Given the description of an element on the screen output the (x, y) to click on. 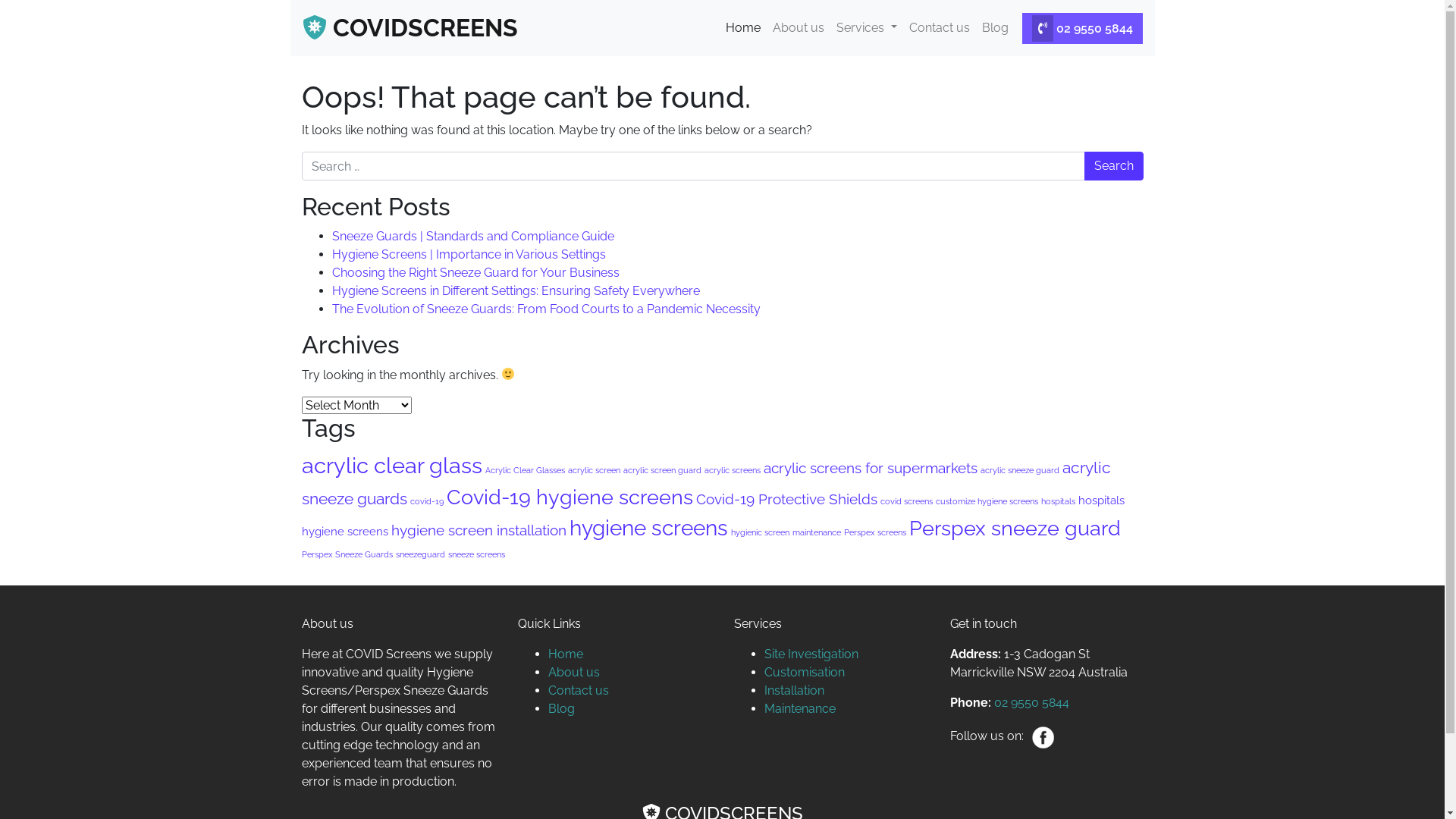
Perspex screens Element type: text (874, 531)
Sneeze Guards | Standards and Compliance Guide Element type: text (473, 236)
Perspex Sneeze Guards Element type: text (346, 553)
Customisation Element type: text (804, 672)
Hygiene Screens | Importance in Various Settings Element type: text (468, 254)
acrylic sneeze guard Element type: text (1018, 469)
covid-19 Element type: text (425, 500)
sneeze screens Element type: text (475, 553)
Acrylic Clear Glasses Element type: text (524, 469)
Contact us Element type: text (577, 690)
Search Element type: text (1113, 165)
Choosing the Right Sneeze Guard for Your Business Element type: text (475, 272)
covid screens Element type: text (905, 500)
acrylic sneeze guards Element type: text (705, 483)
acrylic clear glass Element type: text (391, 464)
Home Element type: text (564, 653)
Contact us Element type: text (938, 27)
Covid-19 hygiene screens Element type: text (568, 496)
hospitals Element type: text (1057, 500)
hygiene screens Element type: text (647, 527)
Blog Element type: text (560, 708)
COVIDSCREENS Element type: text (409, 28)
Installation Element type: text (794, 690)
About us Element type: text (798, 27)
02 9550 5844 Element type: text (1082, 27)
sneezeguard Element type: text (420, 553)
02 9550 5844 Element type: text (1029, 702)
About us Element type: text (573, 672)
Home
(current) Element type: text (742, 27)
Covid-19 Protective Shields Element type: text (786, 498)
Perspex sneeze guard Element type: text (1014, 527)
customize hygiene screens Element type: text (986, 500)
acrylic screens Element type: text (731, 469)
hospitals hygiene screens Element type: text (712, 515)
acrylic screen guard Element type: text (662, 469)
acrylic screens for supermarkets Element type: text (869, 467)
hygiene screen installation Element type: text (478, 529)
maintenance Element type: text (815, 531)
acrylic screen Element type: text (593, 469)
Site Investigation Element type: text (811, 653)
Blog Element type: text (994, 27)
Services Element type: text (866, 27)
Maintenance Element type: text (799, 708)
hygienic screen Element type: text (760, 531)
